Given the description of an element on the screen output the (x, y) to click on. 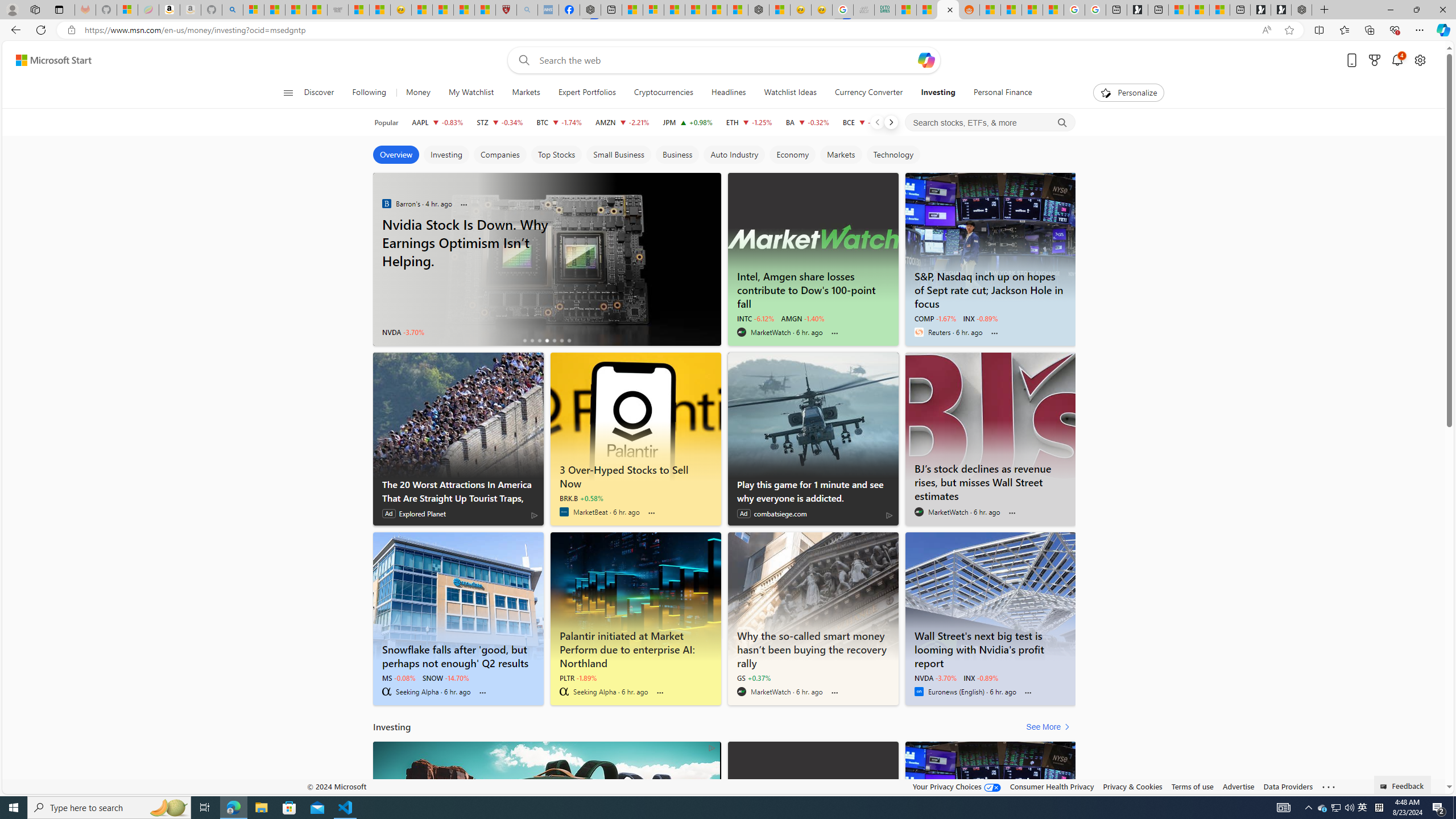
R******* | Trusted Community Engagement and Contributions (990, 9)
BTC Bitcoin decrease 60,359.26 -1,049.65 -1.74% (559, 122)
Workspaces (34, 9)
Data Providers (1288, 786)
Investing (937, 92)
Skip to footer (46, 59)
Watchlist Ideas (789, 92)
Ad (743, 513)
Reuters (918, 331)
Investing (937, 92)
MSN (948, 9)
